Given the description of an element on the screen output the (x, y) to click on. 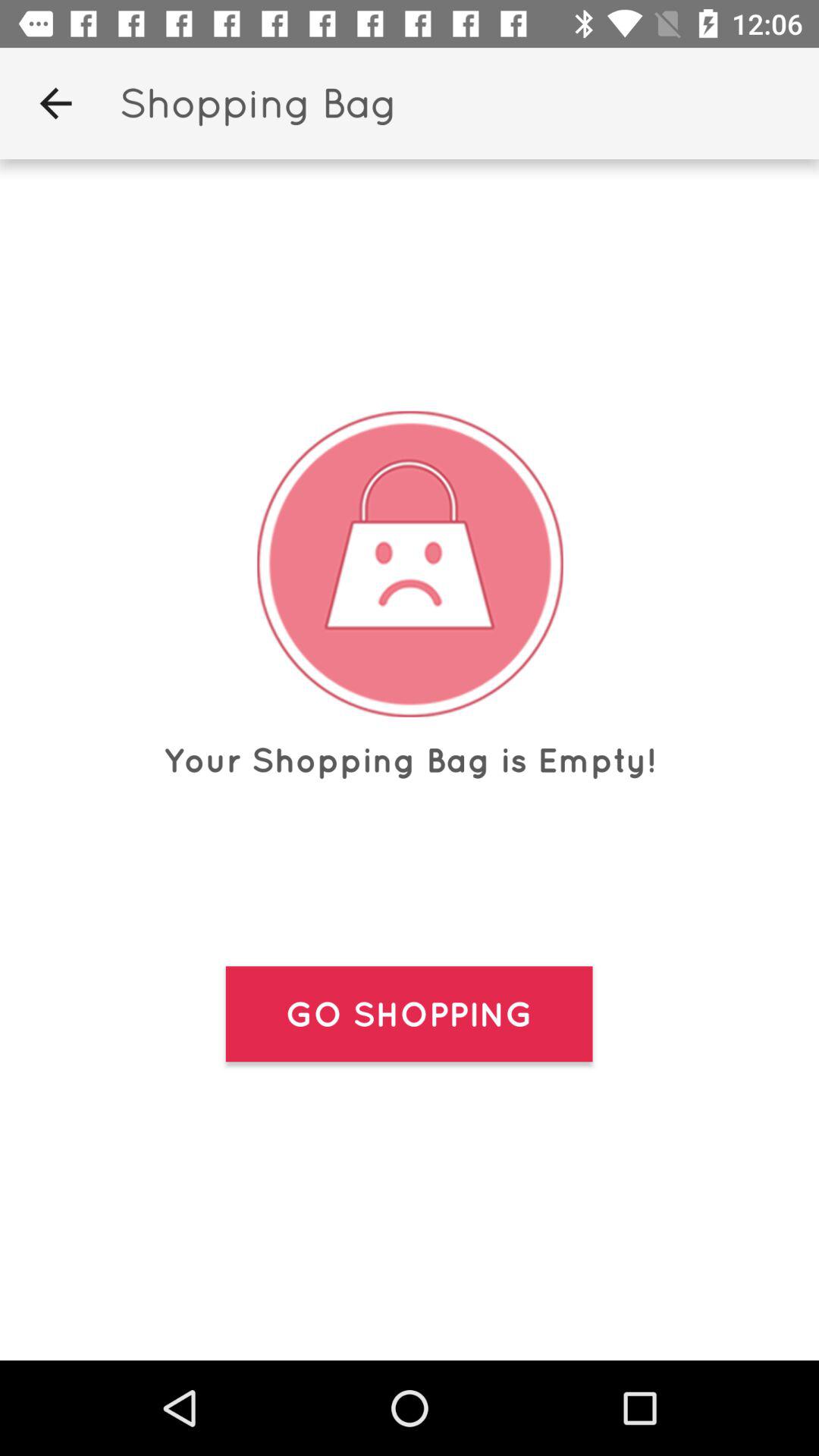
turn on the item to the left of the shopping bag icon (55, 103)
